Given the description of an element on the screen output the (x, y) to click on. 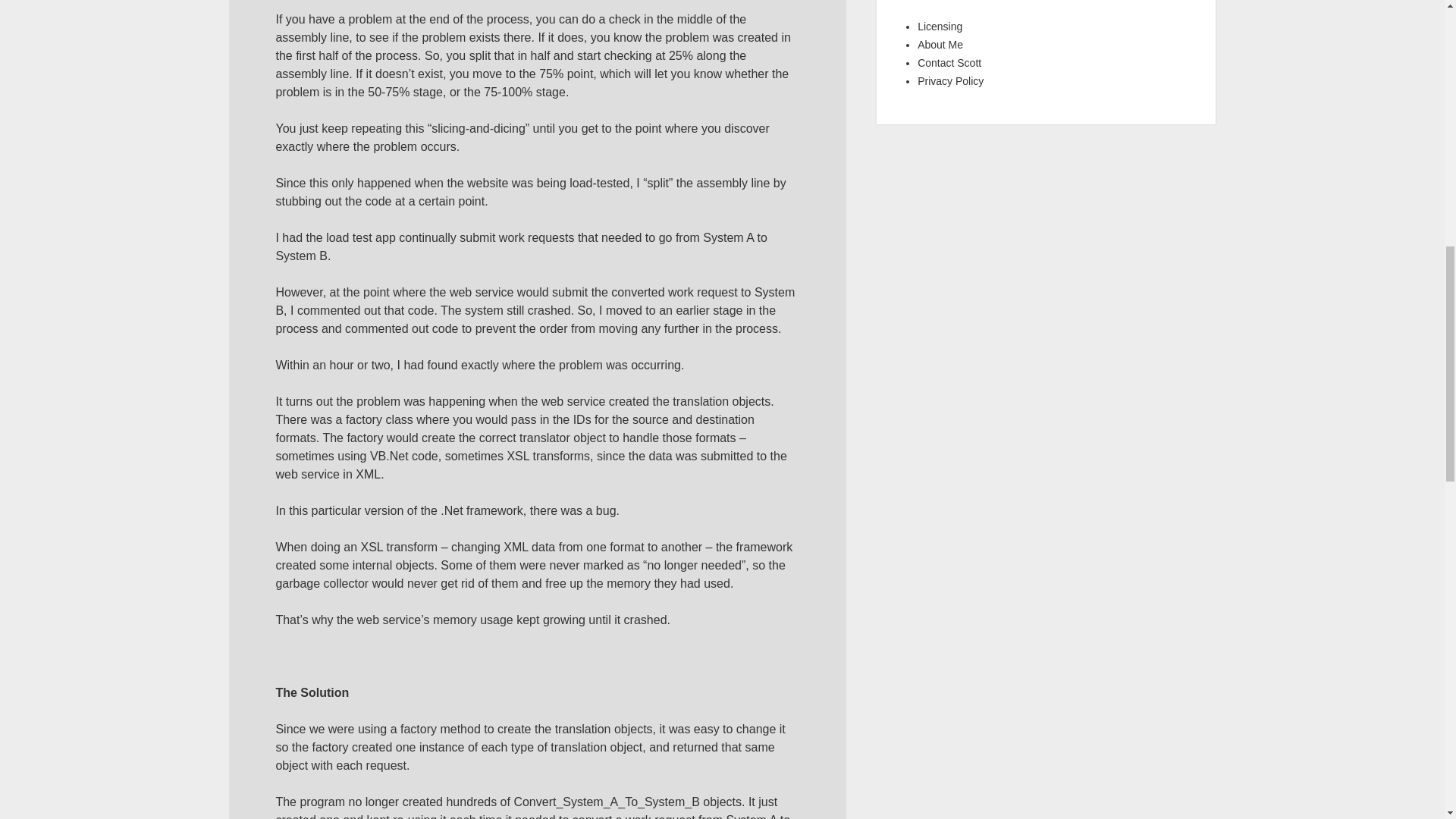
Licensing (939, 26)
Privacy Policy (950, 80)
Contact Scott (949, 62)
About Me (939, 44)
